Given the description of an element on the screen output the (x, y) to click on. 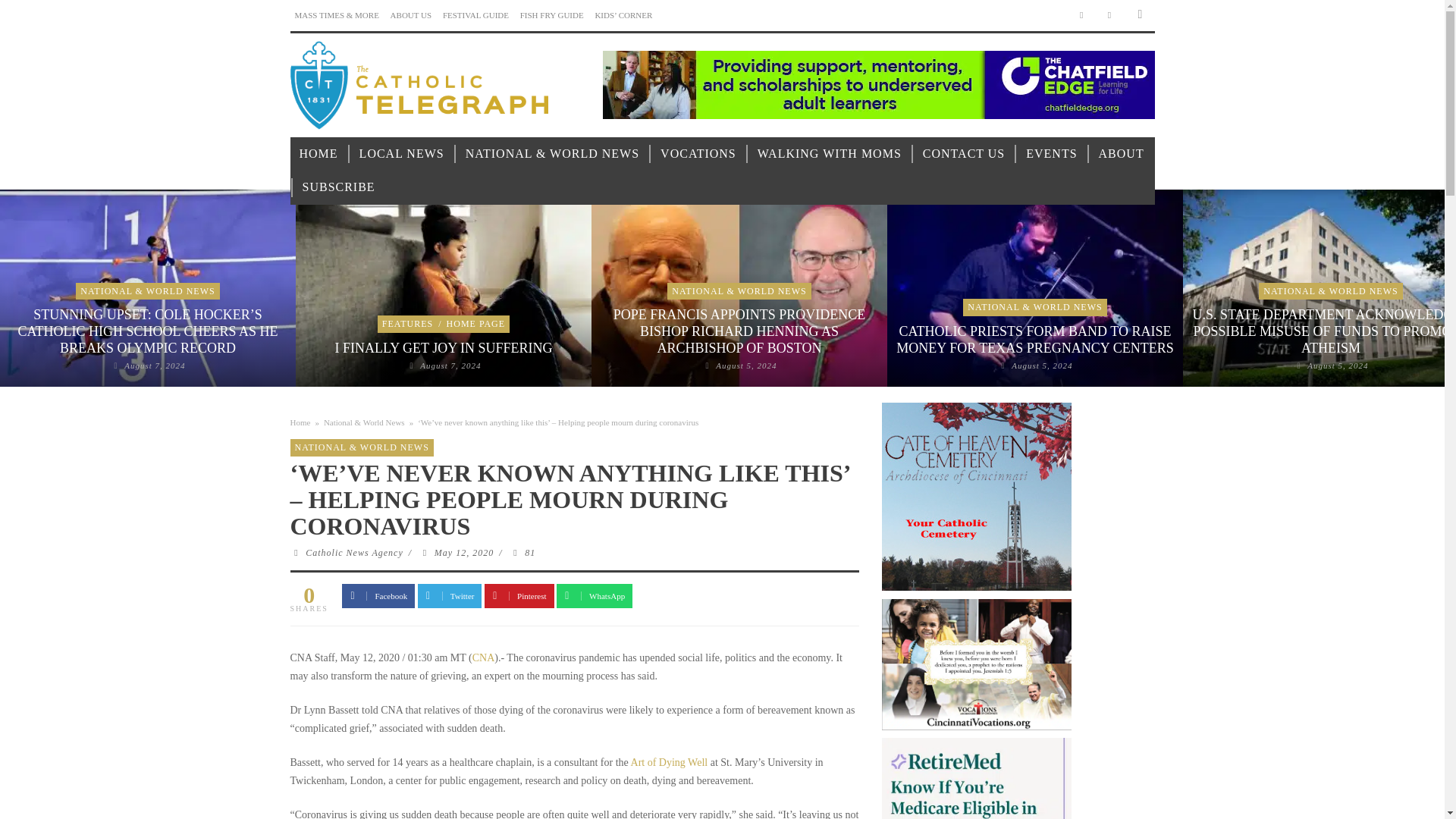
Twitter (1110, 15)
FISH FRY GUIDE (551, 15)
FESTIVAL GUIDE (475, 15)
Facebook (1081, 15)
LOCAL NEWS (401, 154)
Walking with Moms (829, 154)
ABOUT (1121, 154)
HOME (317, 154)
EVENTS (1051, 154)
SUBSCRIBE (338, 187)
View all posts in Features (406, 323)
Permalink to I Finally Get Joy in Suffering (450, 365)
View all posts in Home Page (476, 323)
VOCATIONS (697, 154)
WALKING WITH MOMS (829, 154)
